Given the description of an element on the screen output the (x, y) to click on. 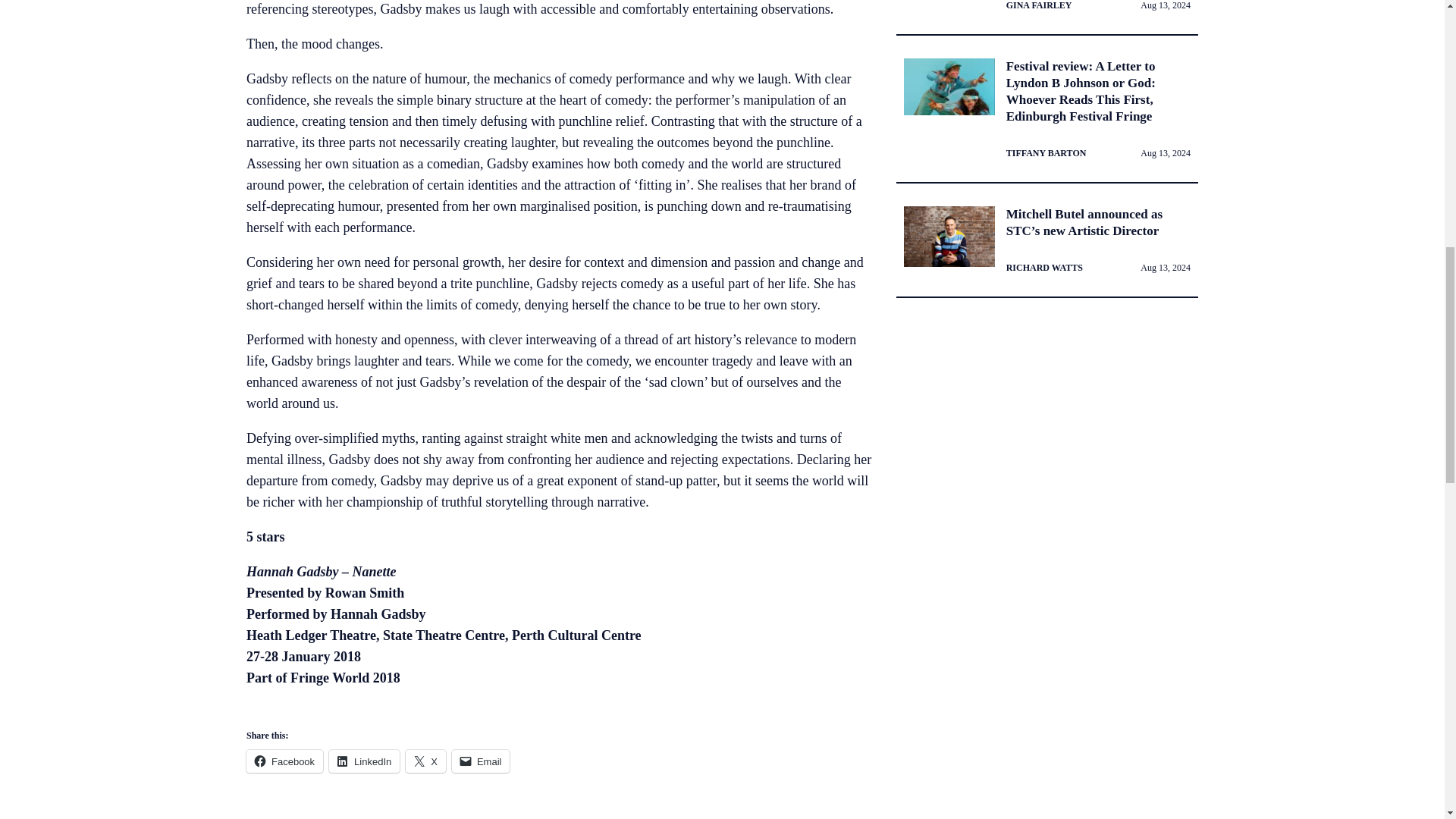
Click to email a link to a friend (481, 761)
Click to share on X (425, 761)
Click to share on LinkedIn (363, 761)
Click to share on Facebook (284, 761)
